Given the description of an element on the screen output the (x, y) to click on. 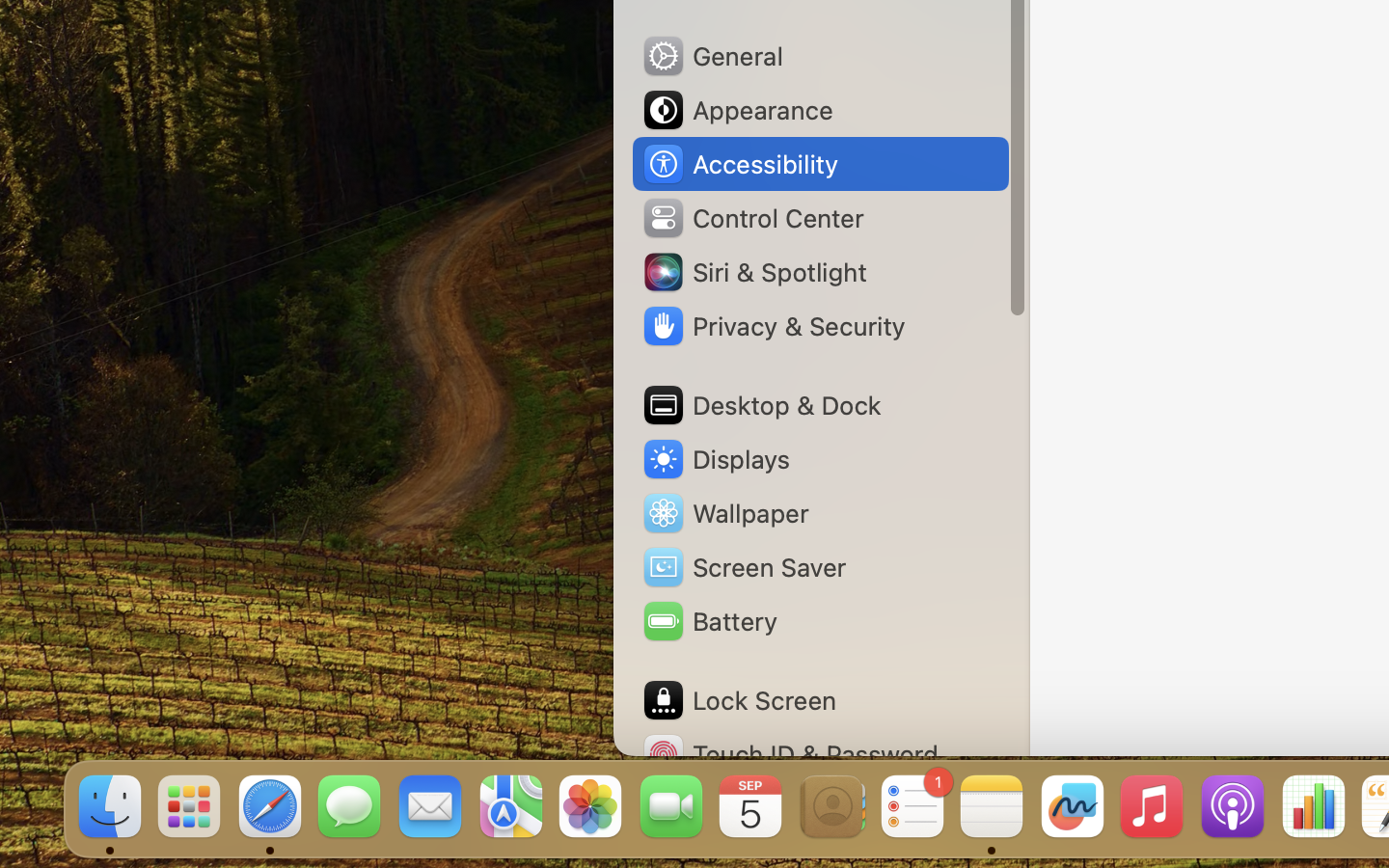
Displays Element type: AXStaticText (715, 458)
Battery Element type: AXStaticText (708, 620)
Control Center Element type: AXStaticText (752, 217)
General Element type: AXStaticText (711, 55)
Accessibility Element type: AXStaticText (739, 163)
